Given the description of an element on the screen output the (x, y) to click on. 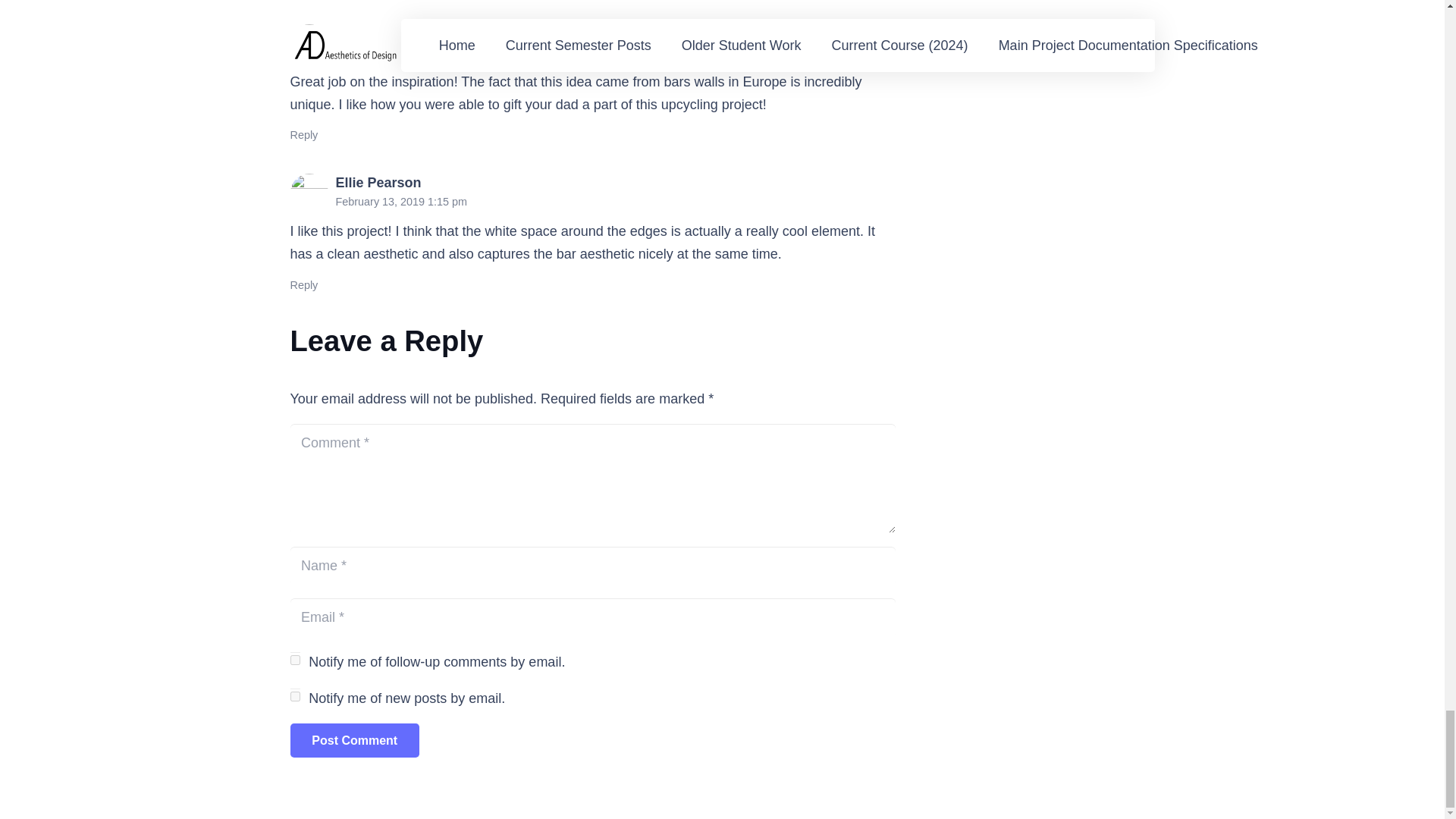
February 13, 2019 1:15 pm (400, 51)
February 13, 2019 1:15 pm (400, 201)
